Given the description of an element on the screen output the (x, y) to click on. 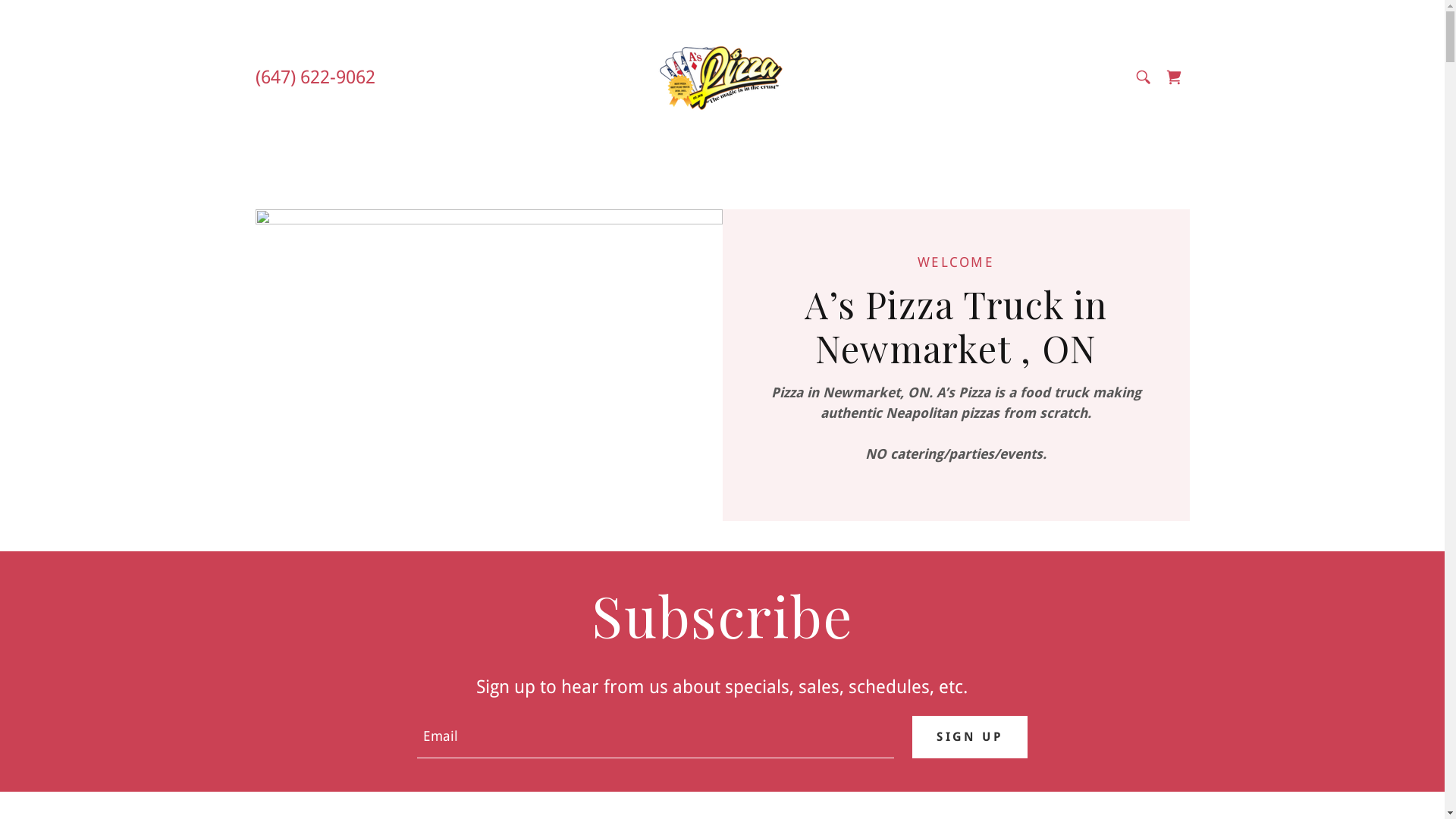
A's Pizza Element type: hover (721, 76)
(647) 622-9062 Element type: text (314, 76)
SIGN UP Element type: text (969, 736)
